Given the description of an element on the screen output the (x, y) to click on. 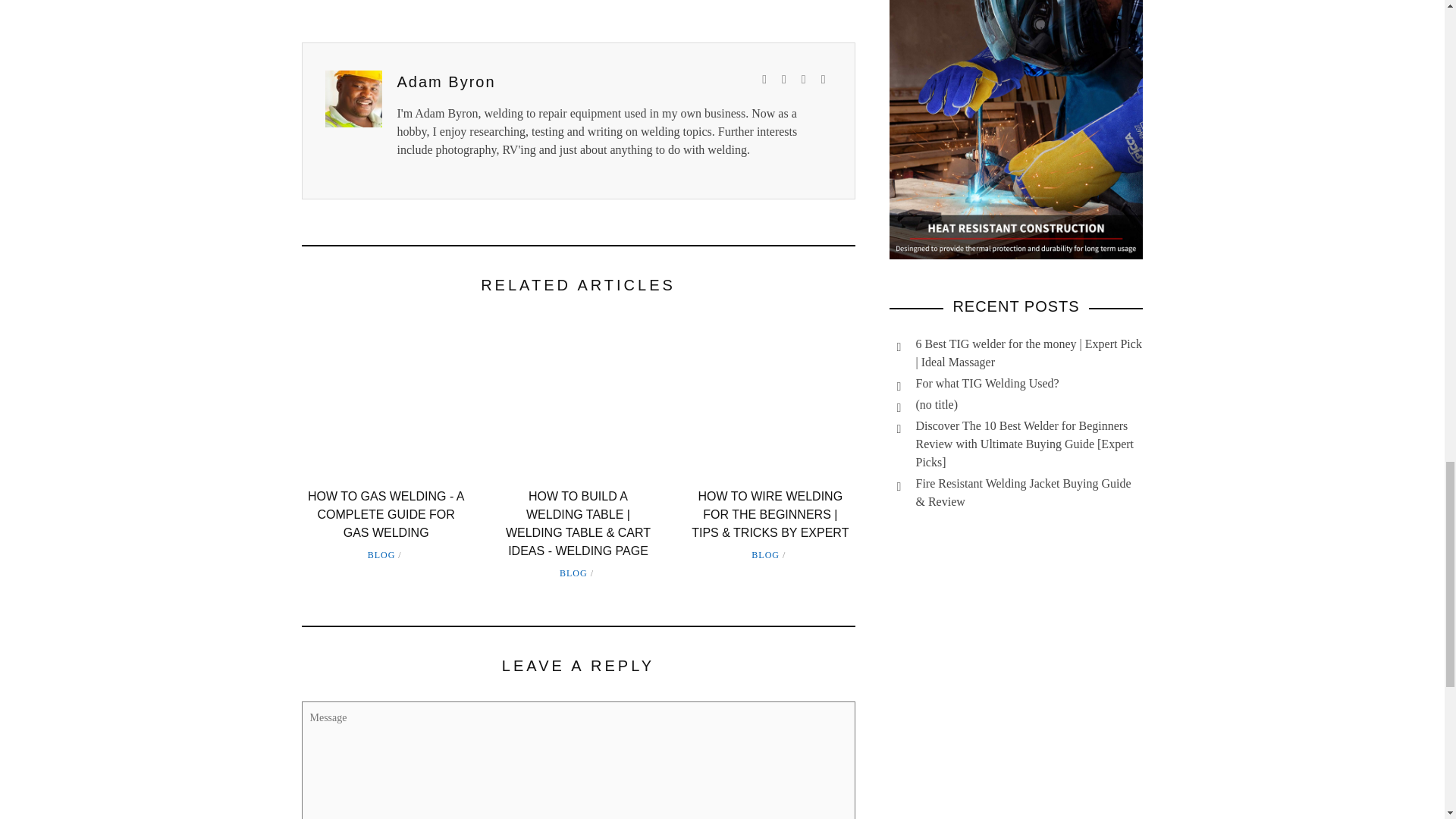
Adam Byron (446, 80)
BLOG (382, 554)
HOW TO GAS WELDING - A COMPLETE GUIDE FOR GAS WELDING (385, 513)
